Given the description of an element on the screen output the (x, y) to click on. 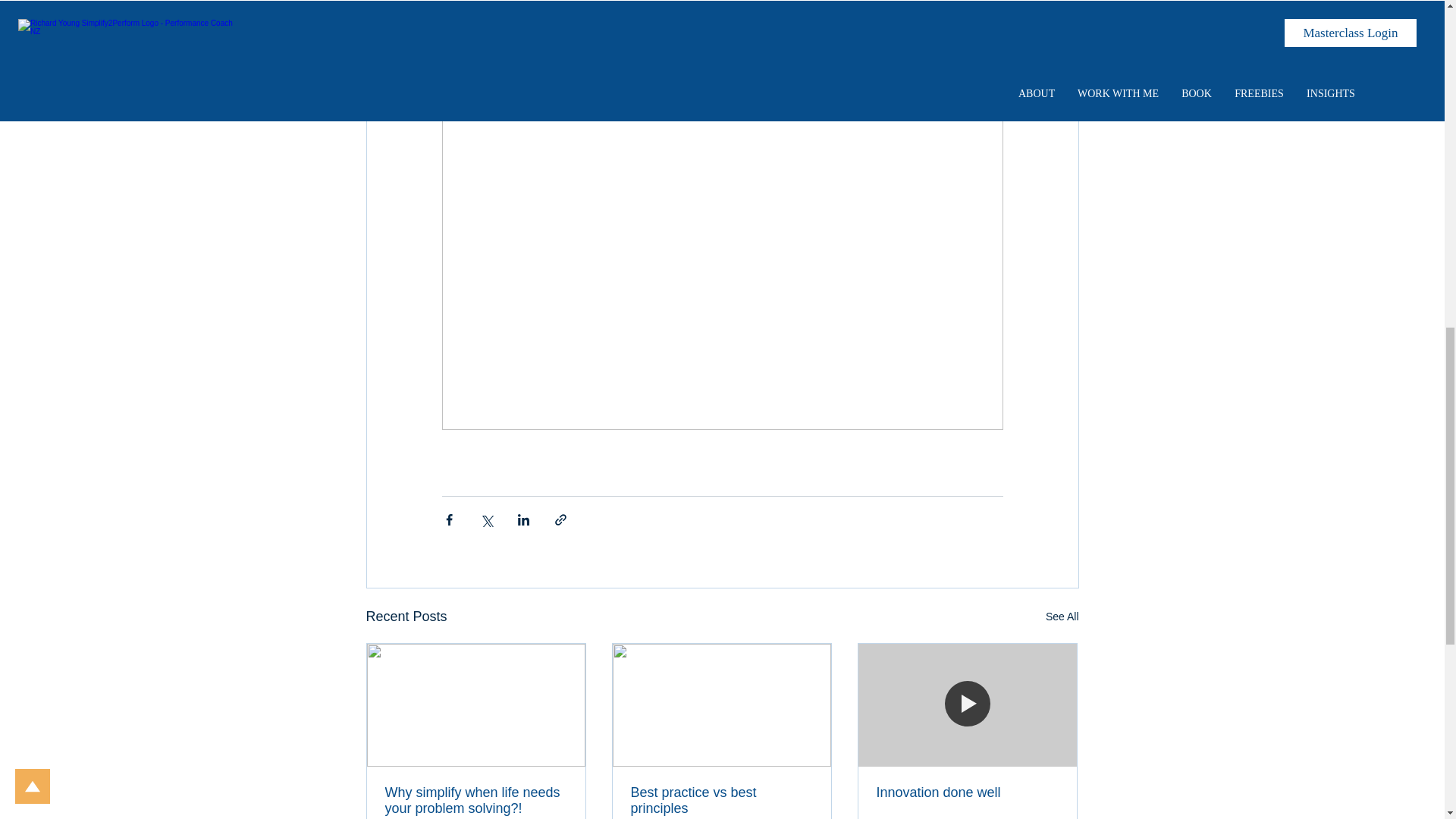
Why simplify when life needs your problem solving?! (476, 800)
See All (1061, 617)
Best practice vs best principles (721, 800)
Innovation done well (967, 792)
